Given the description of an element on the screen output the (x, y) to click on. 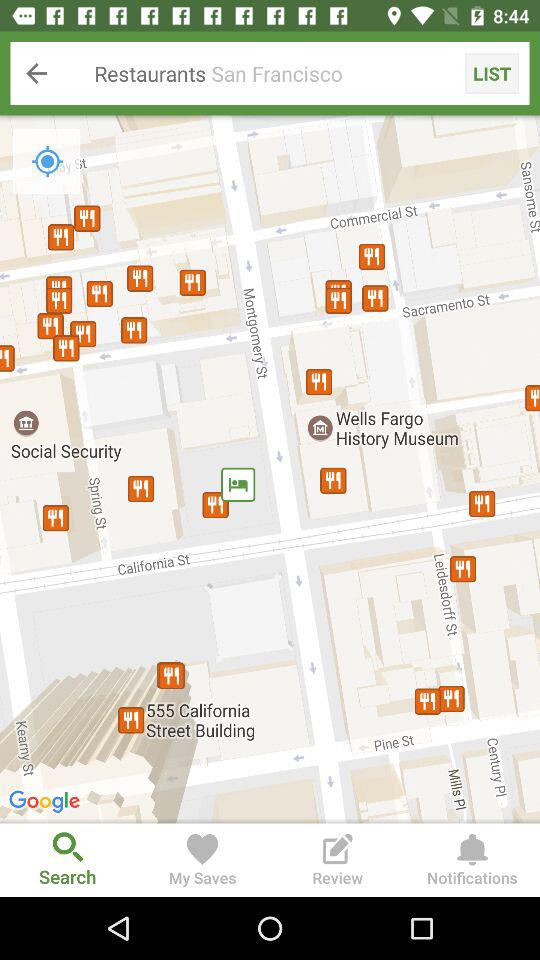
click item above the search icon (270, 469)
